Given the description of an element on the screen output the (x, y) to click on. 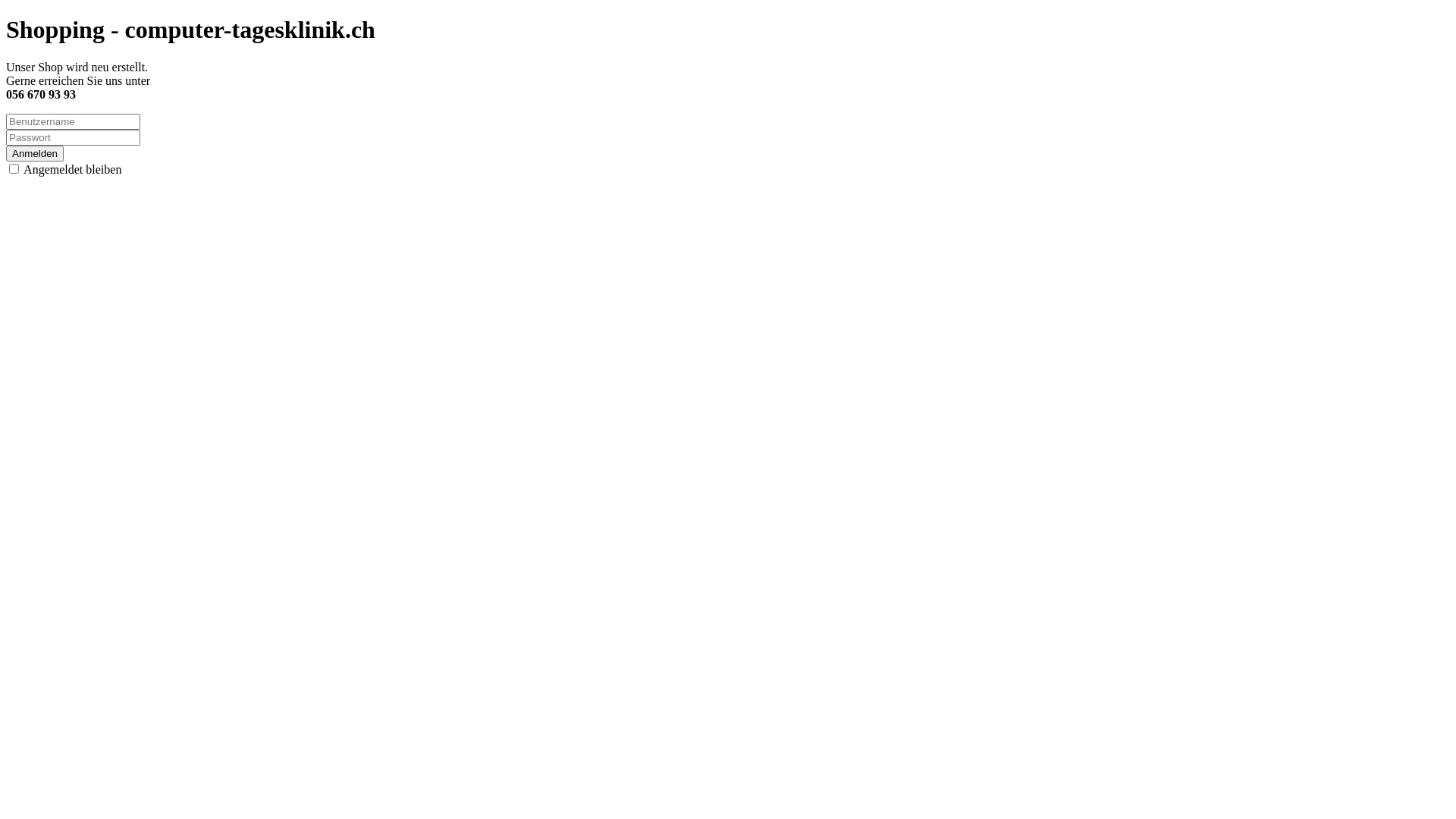
Anmelden Element type: text (34, 153)
